Given the description of an element on the screen output the (x, y) to click on. 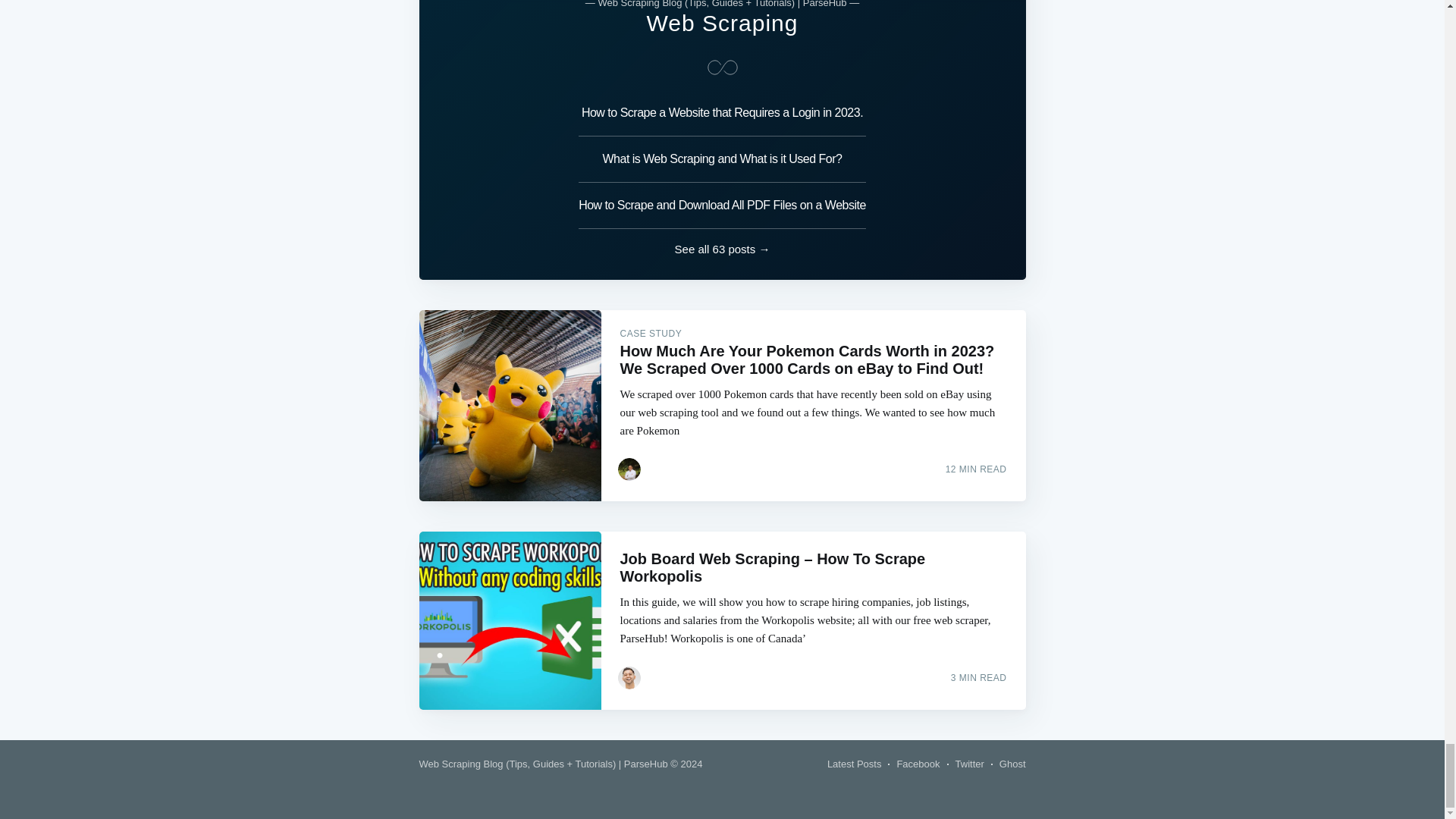
How to Scrape and Download All PDF Files on a Website (722, 205)
How to Scrape a Website that Requires a Login in 2023. (722, 116)
Web Scraping (721, 23)
What is Web Scraping and What is it Used For? (722, 159)
